Given the description of an element on the screen output the (x, y) to click on. 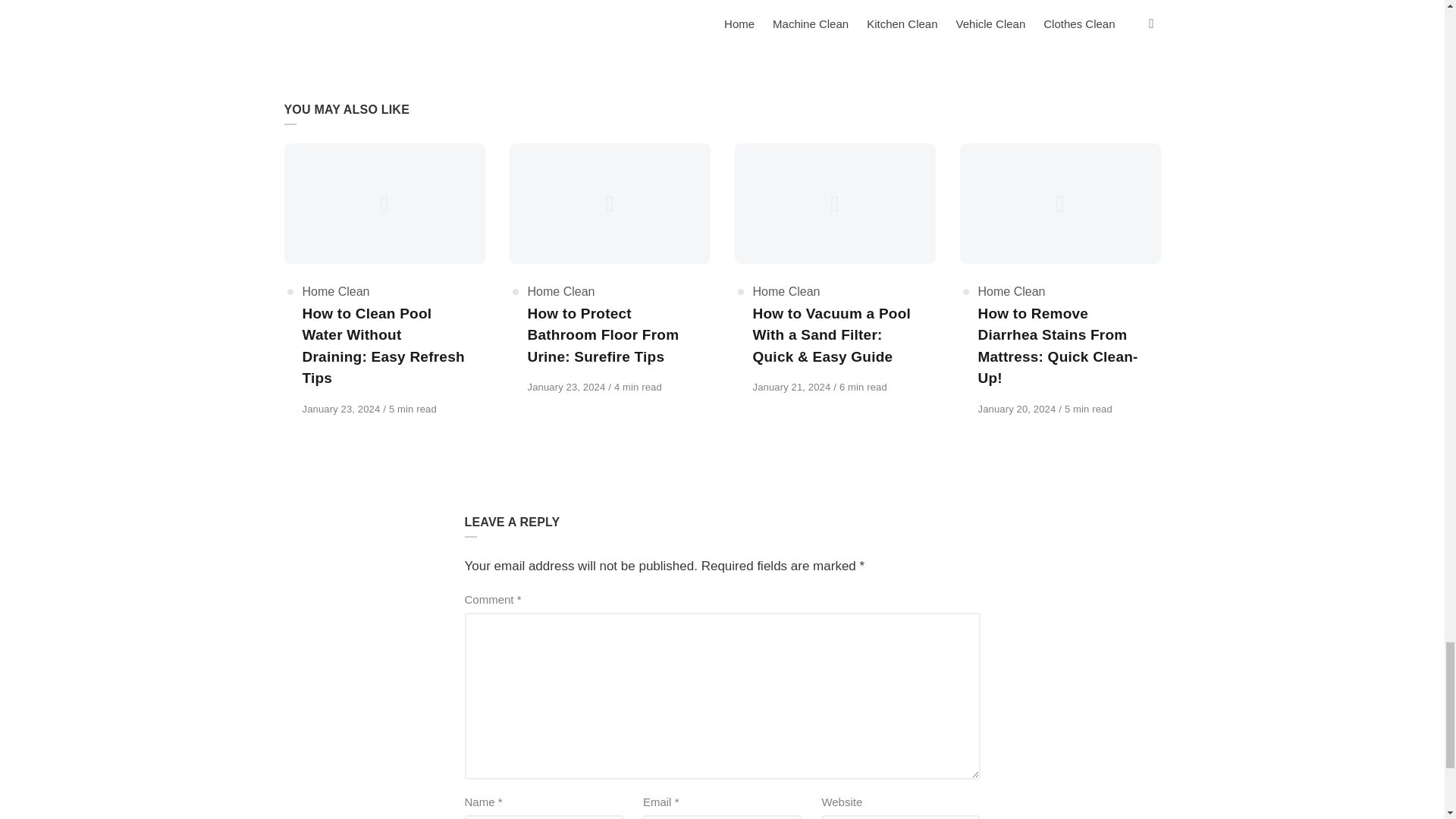
Linkedin (390, 2)
Pinterest (411, 2)
January 21, 2024 (792, 387)
January 20, 2024 (1018, 408)
Home Clean (335, 291)
January 23, 2024 (567, 387)
Facebook (347, 2)
Instagram (368, 2)
January 23, 2024 (341, 408)
January 23, 2024 (341, 408)
Twitter (432, 2)
